Given the description of an element on the screen output the (x, y) to click on. 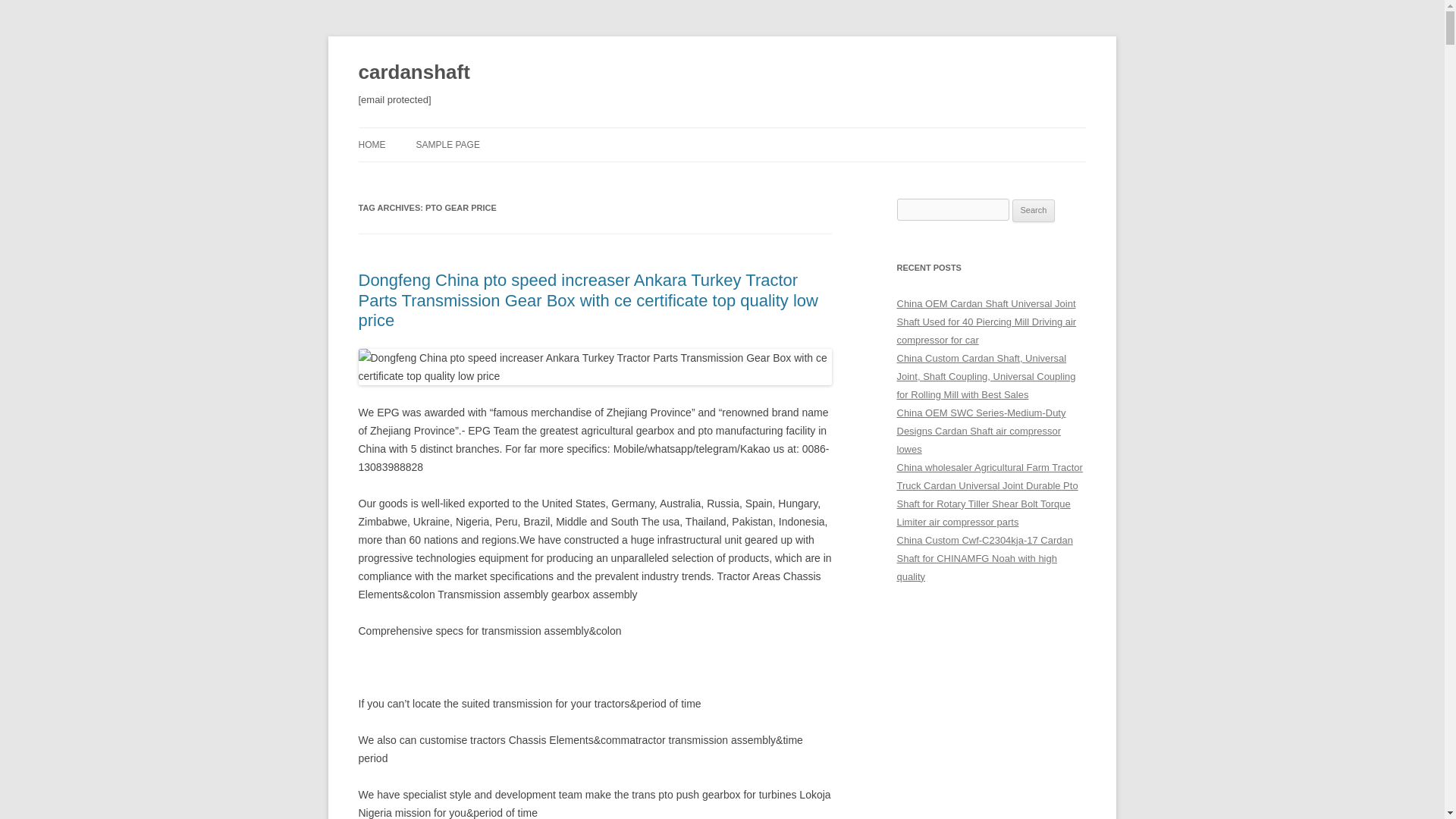
cardanshaft (413, 72)
cardanshaft (413, 72)
Search (1033, 210)
SAMPLE PAGE (446, 144)
